Given the description of an element on the screen output the (x, y) to click on. 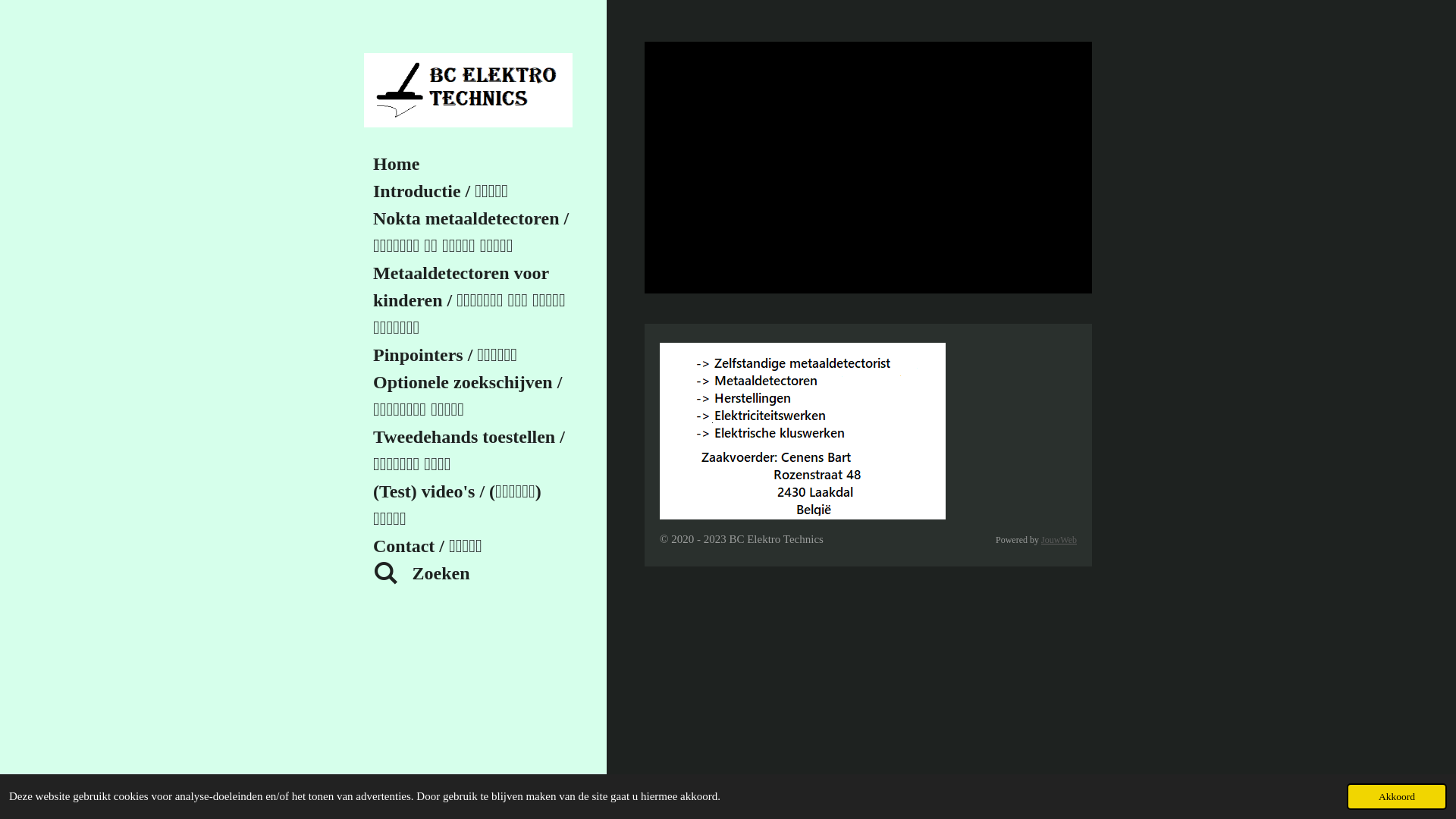
BC Elektro Technics Element type: hover (468, 90)
Zoeken Element type: text (473, 572)
Home Element type: text (473, 163)
JouwWeb Element type: text (1058, 539)
Akkoord Element type: text (1396, 796)
